Given the description of an element on the screen output the (x, y) to click on. 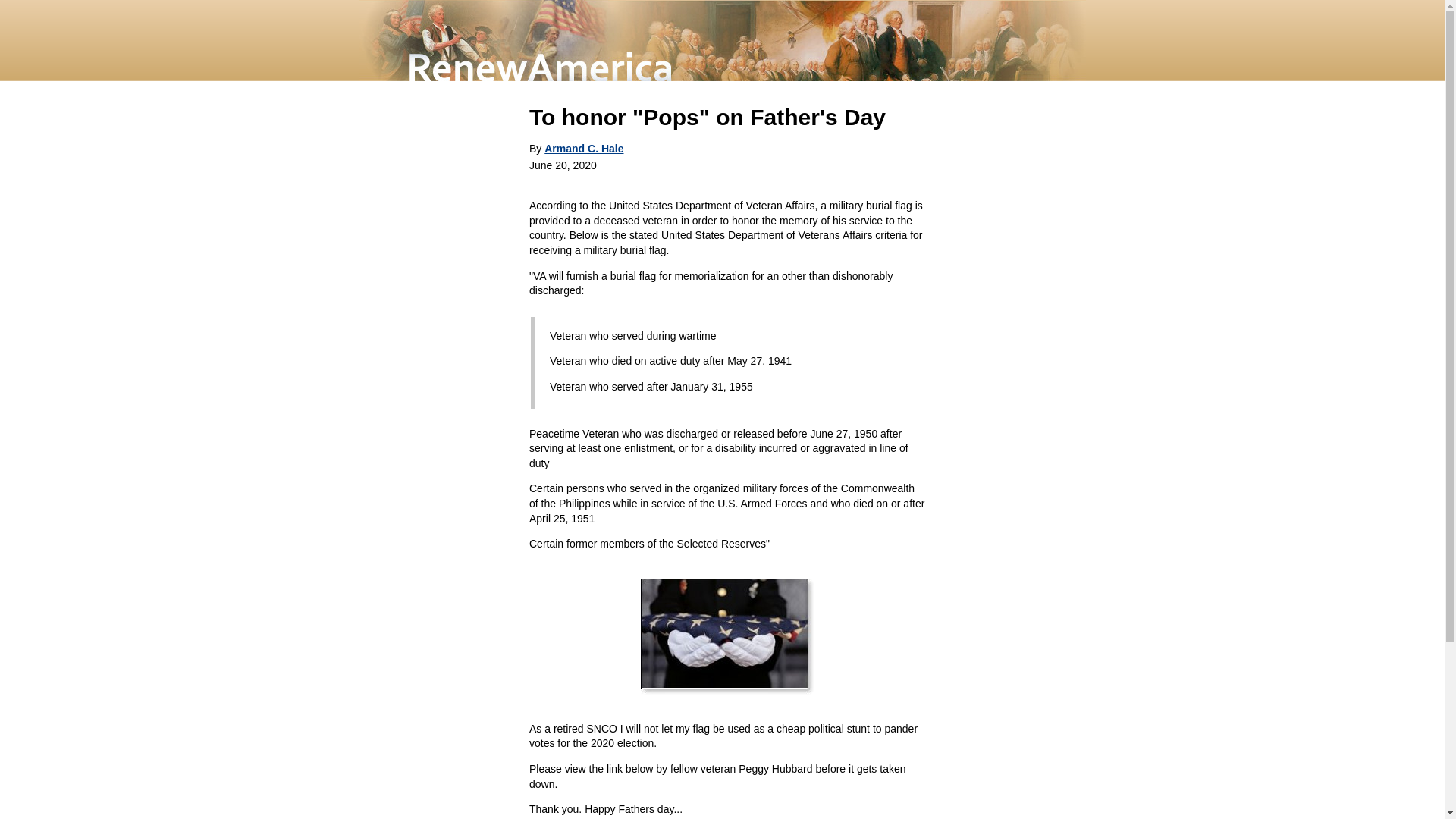
Armand C. Hale (583, 148)
